Given the description of an element on the screen output the (x, y) to click on. 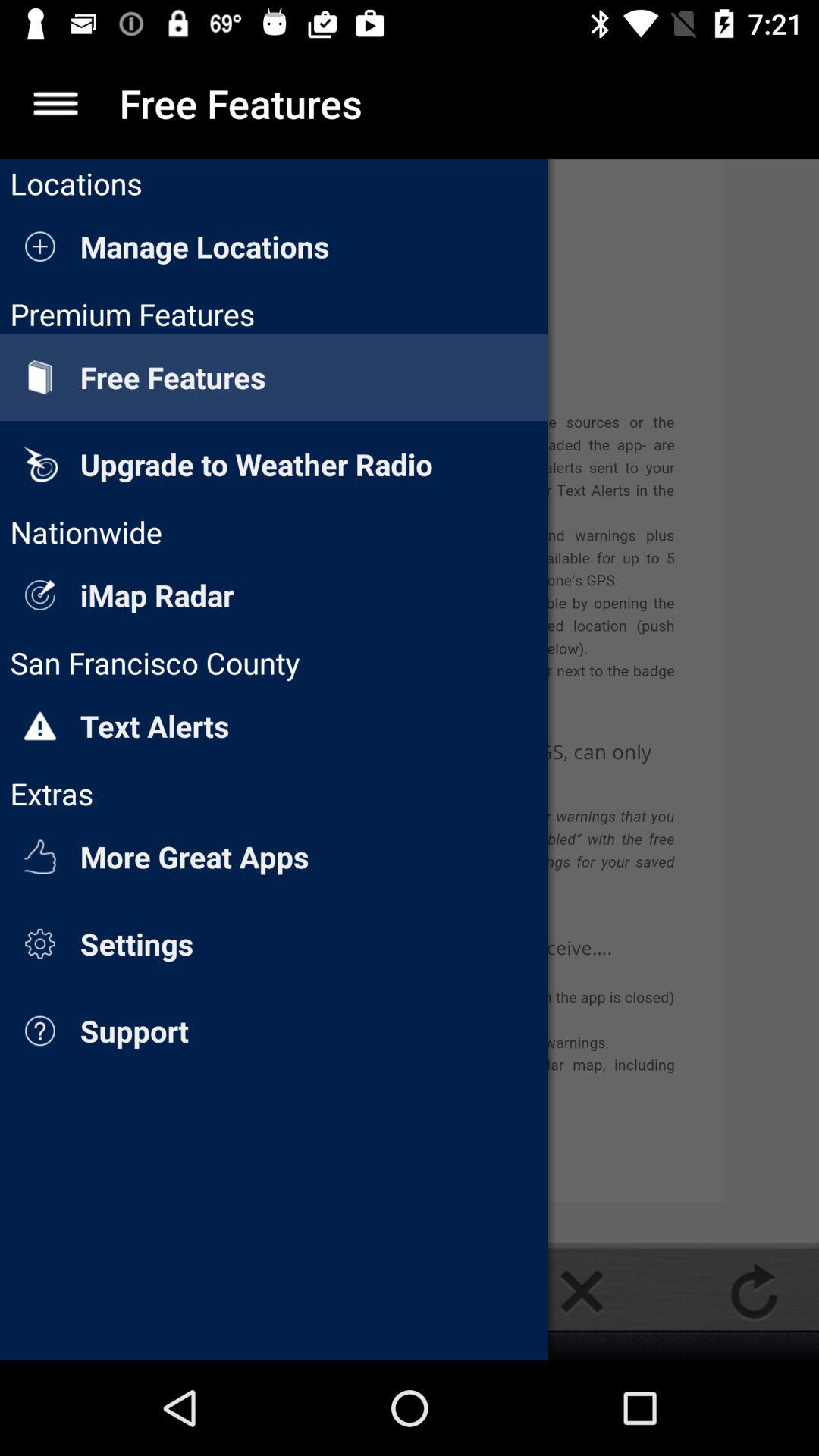
menu options (55, 103)
